Given the description of an element on the screen output the (x, y) to click on. 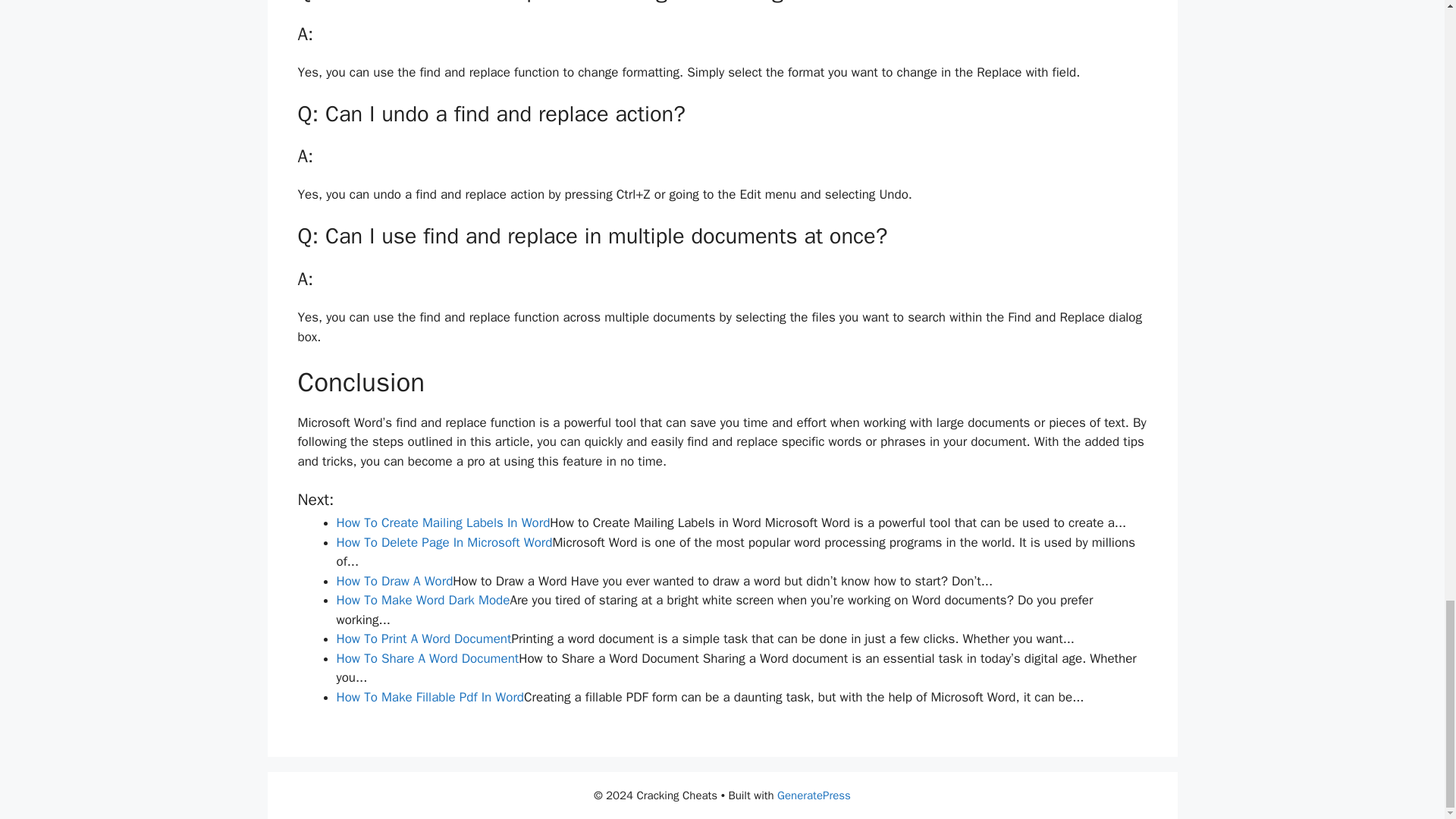
GeneratePress (813, 795)
How To Delete Page In Microsoft Word (444, 542)
How To Share A Word Document (427, 658)
How To Make Fillable Pdf In Word (430, 697)
How To Create Mailing Labels In Word (443, 522)
How To Print A Word Document (424, 638)
How To Make Word Dark Mode (423, 600)
How To Draw A Word (394, 580)
